Given the description of an element on the screen output the (x, y) to click on. 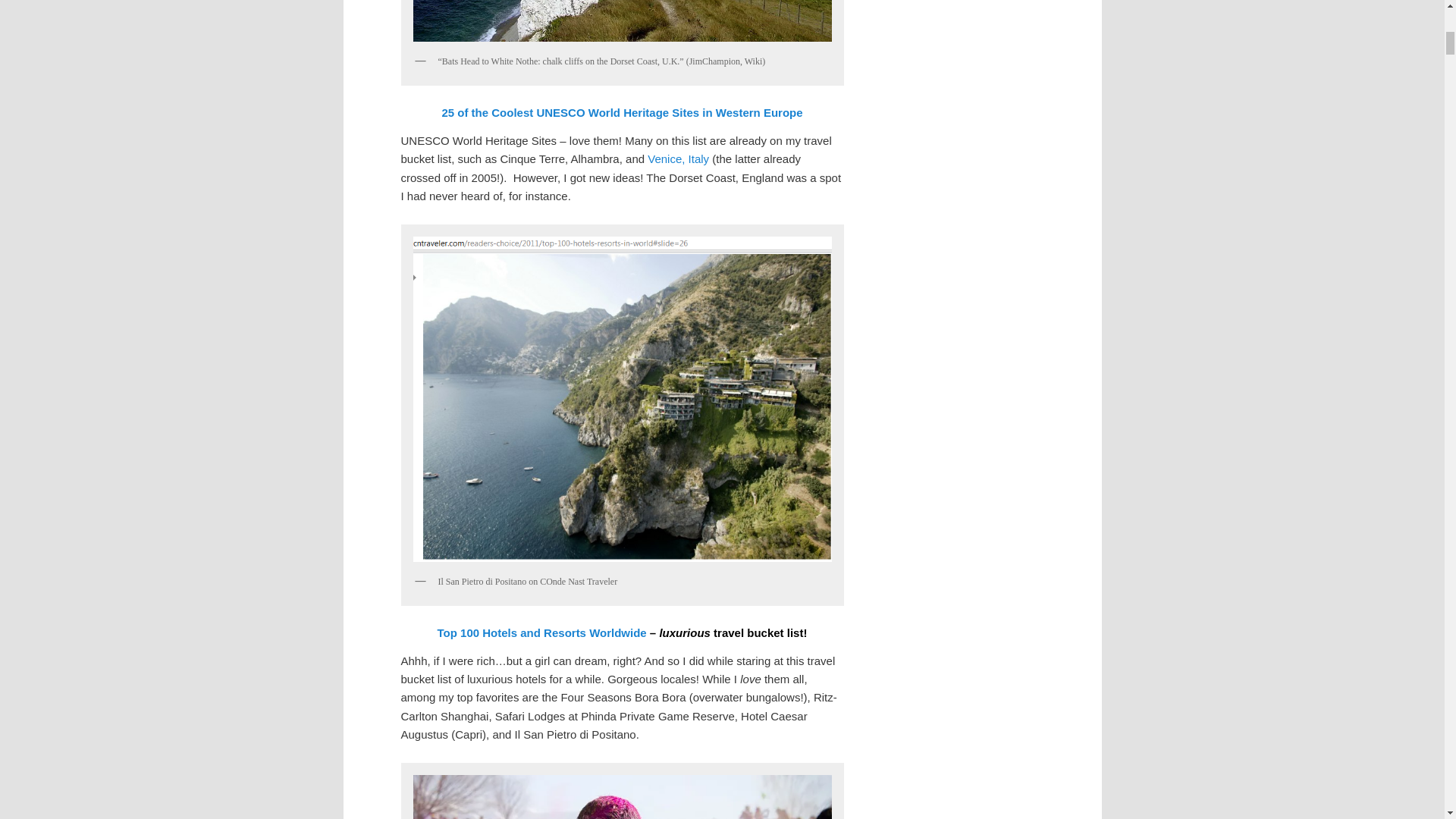
Euro trip 2005: Venice, Italy (678, 158)
travel bucket list - Dorset Coast, England, UK (622, 23)
travel bucket list, Utah Holi Festival of Colors (622, 794)
Top 100 Hotels and Resorts Worldwide (542, 632)
25 Coolest UNESCO World Heritage Sites in Western Europe (621, 112)
